Given the description of an element on the screen output the (x, y) to click on. 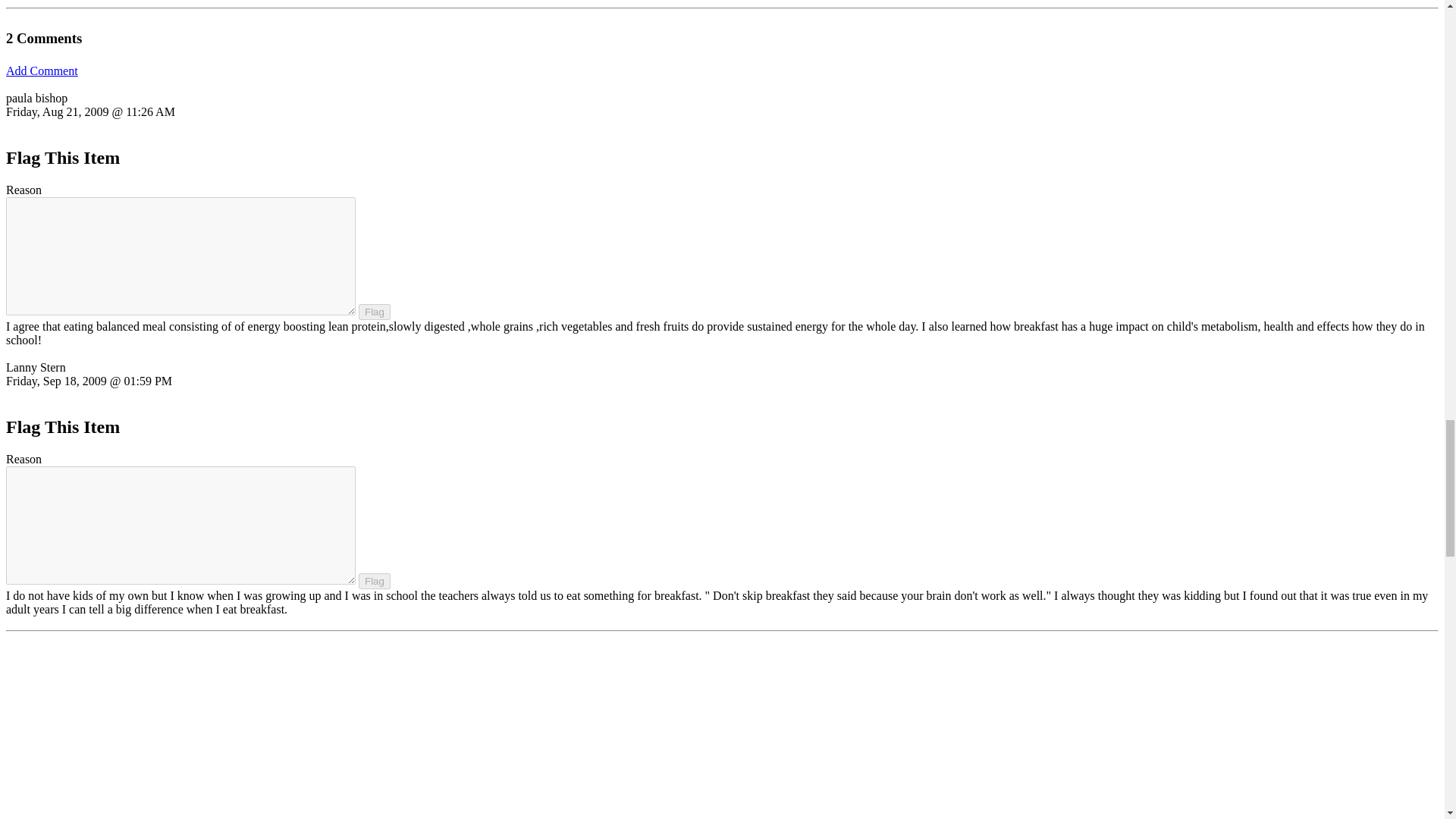
Flag (374, 311)
Flag (374, 580)
